Given the description of an element on the screen output the (x, y) to click on. 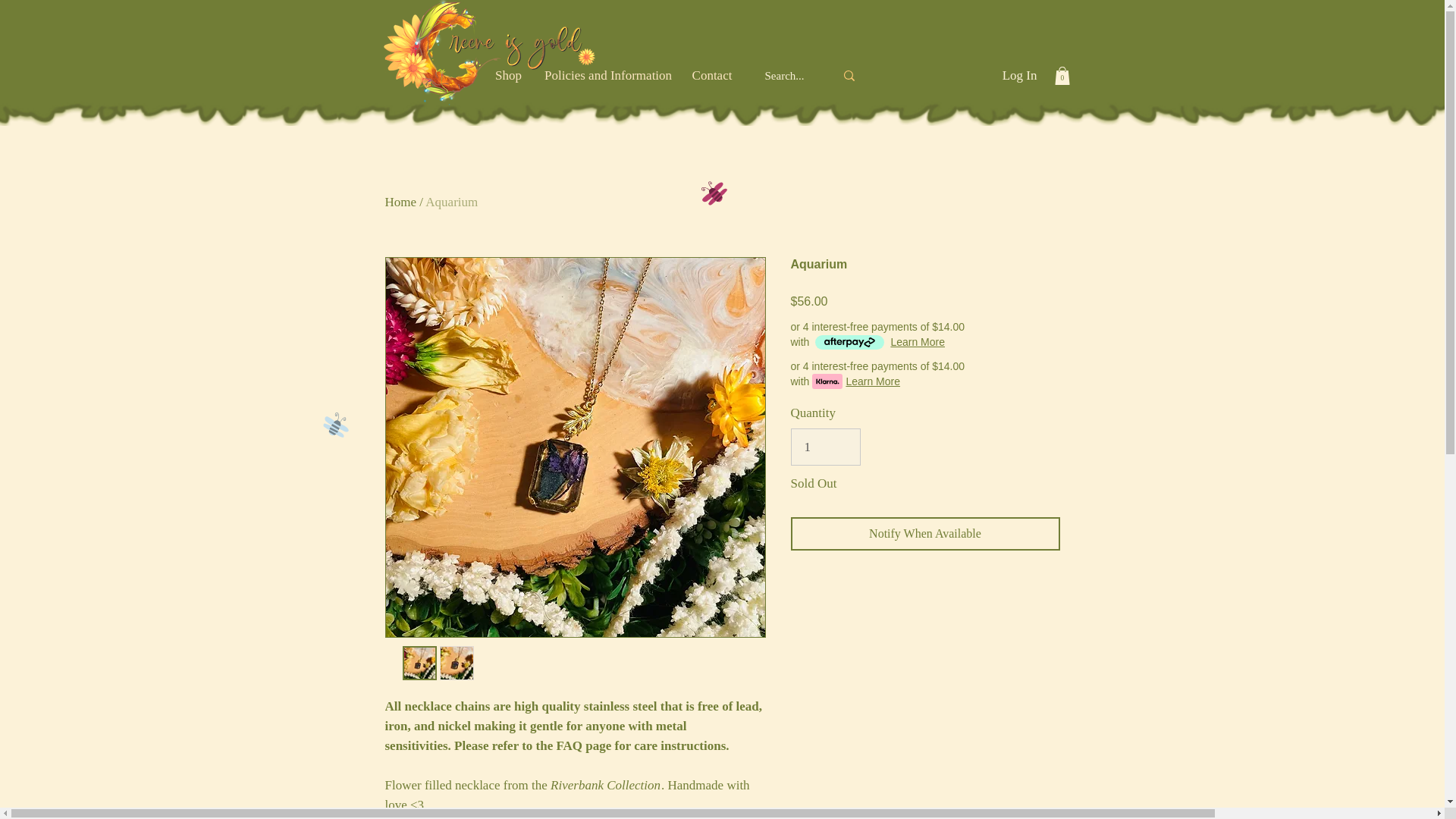
1 (825, 447)
Notify When Available (924, 533)
Learn More (872, 381)
Log In (1019, 75)
Aquarium (451, 201)
Home (400, 201)
Learn More (916, 341)
Smile.io Rewards Program Launcher (68, 769)
Contact (711, 75)
